Given the description of an element on the screen output the (x, y) to click on. 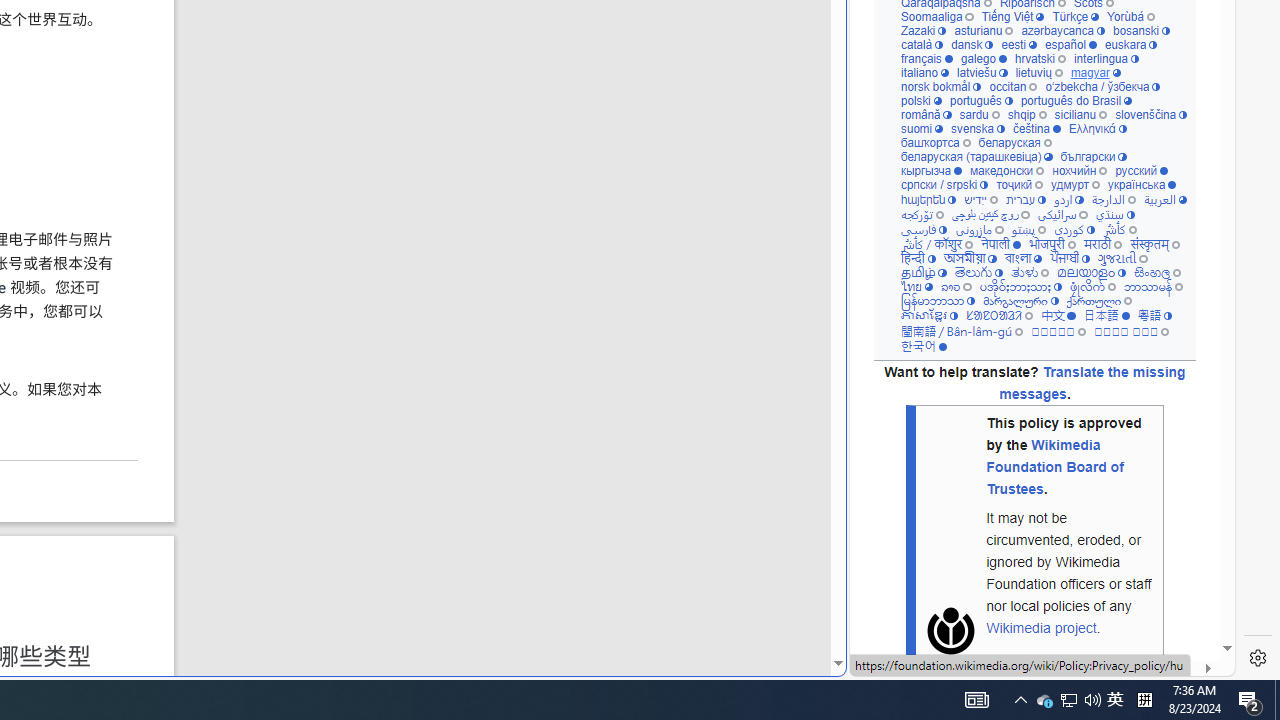
eesti (1018, 45)
interlingua (1106, 58)
galego (983, 58)
polski (920, 101)
Wikimedia project (1040, 627)
